Given the description of an element on the screen output the (x, y) to click on. 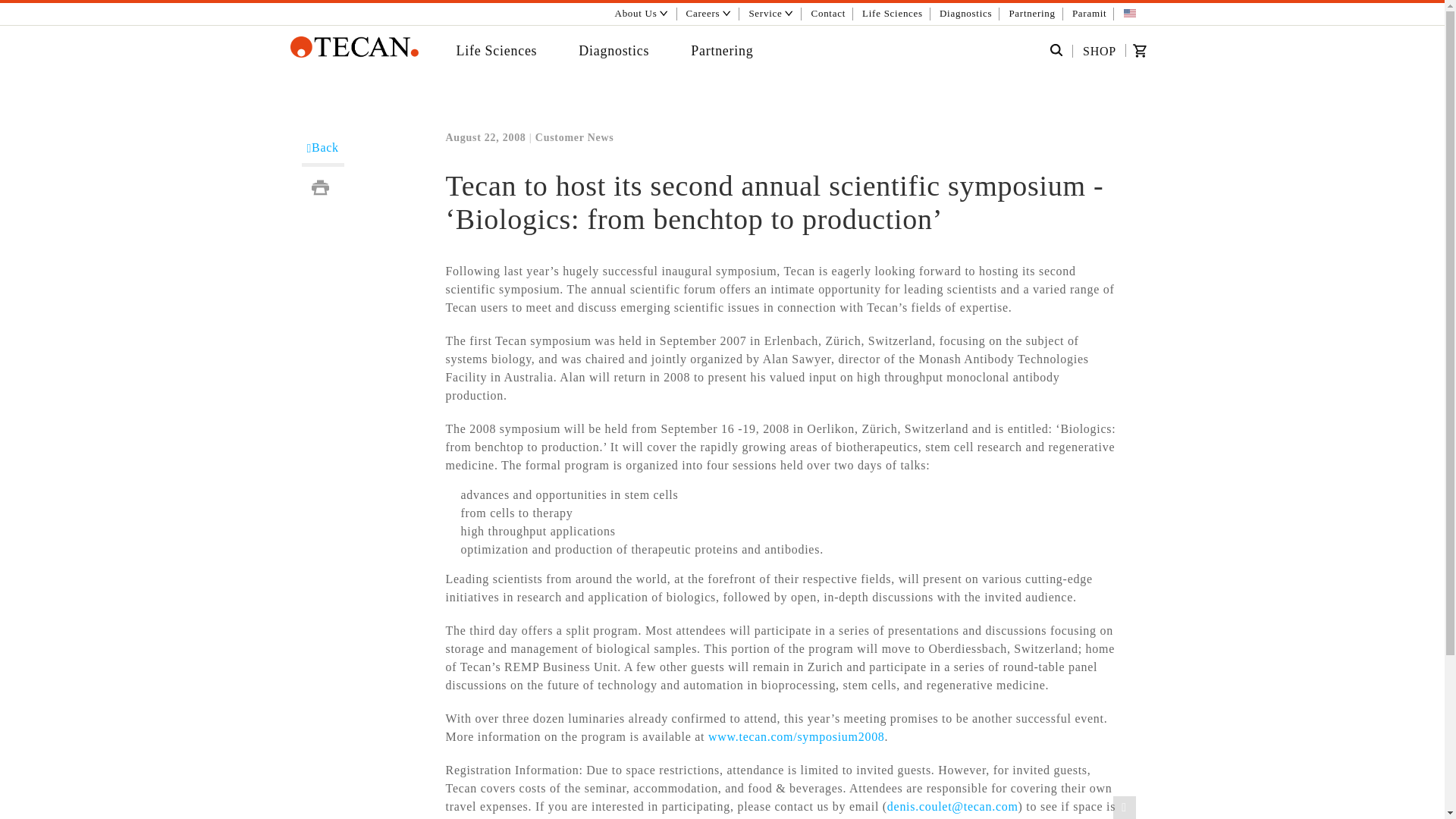
About Us (641, 13)
Careers (709, 13)
Service (770, 13)
